Given the description of an element on the screen output the (x, y) to click on. 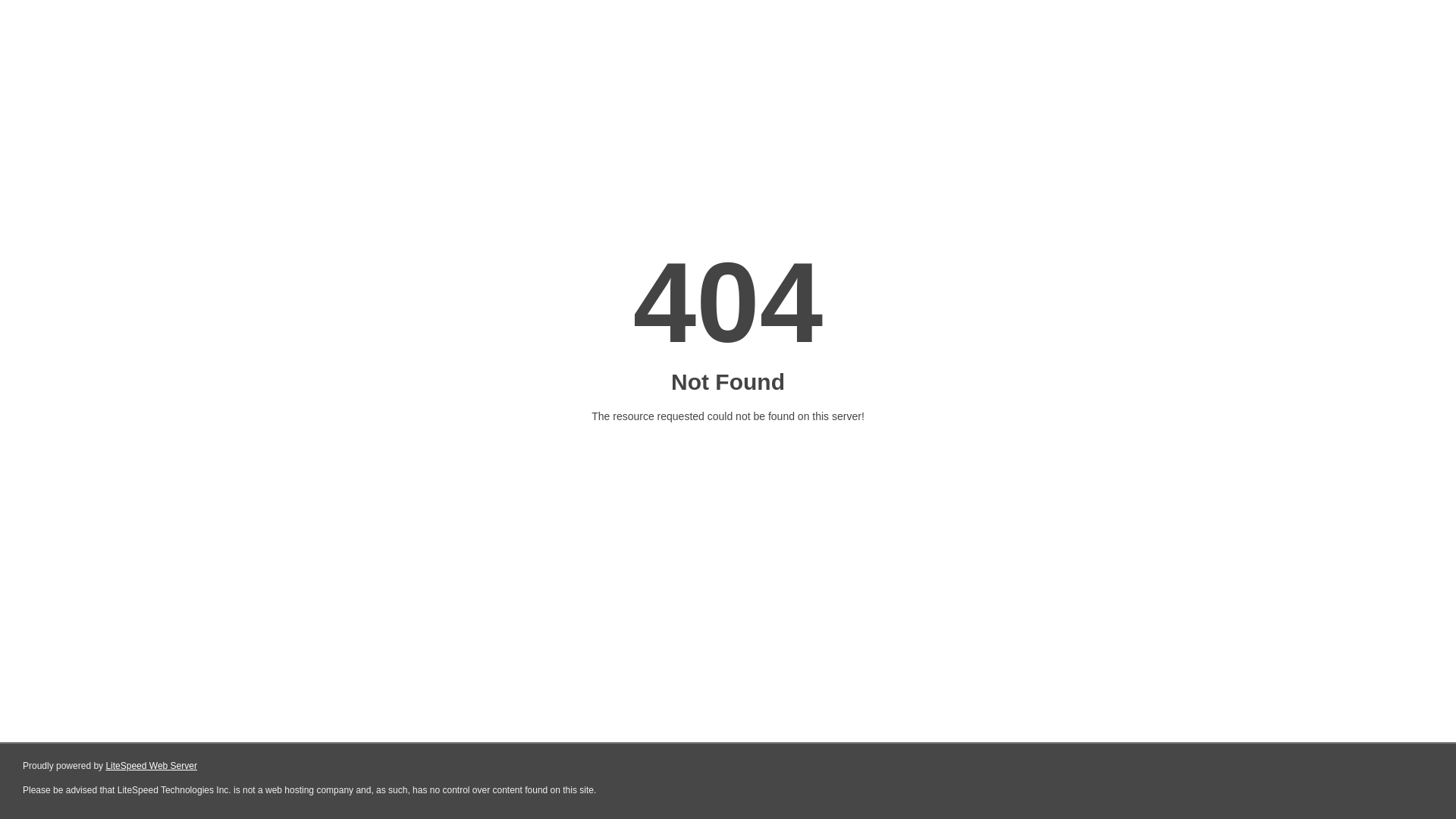
LiteSpeed Web Server Element type: text (151, 765)
